Given the description of an element on the screen output the (x, y) to click on. 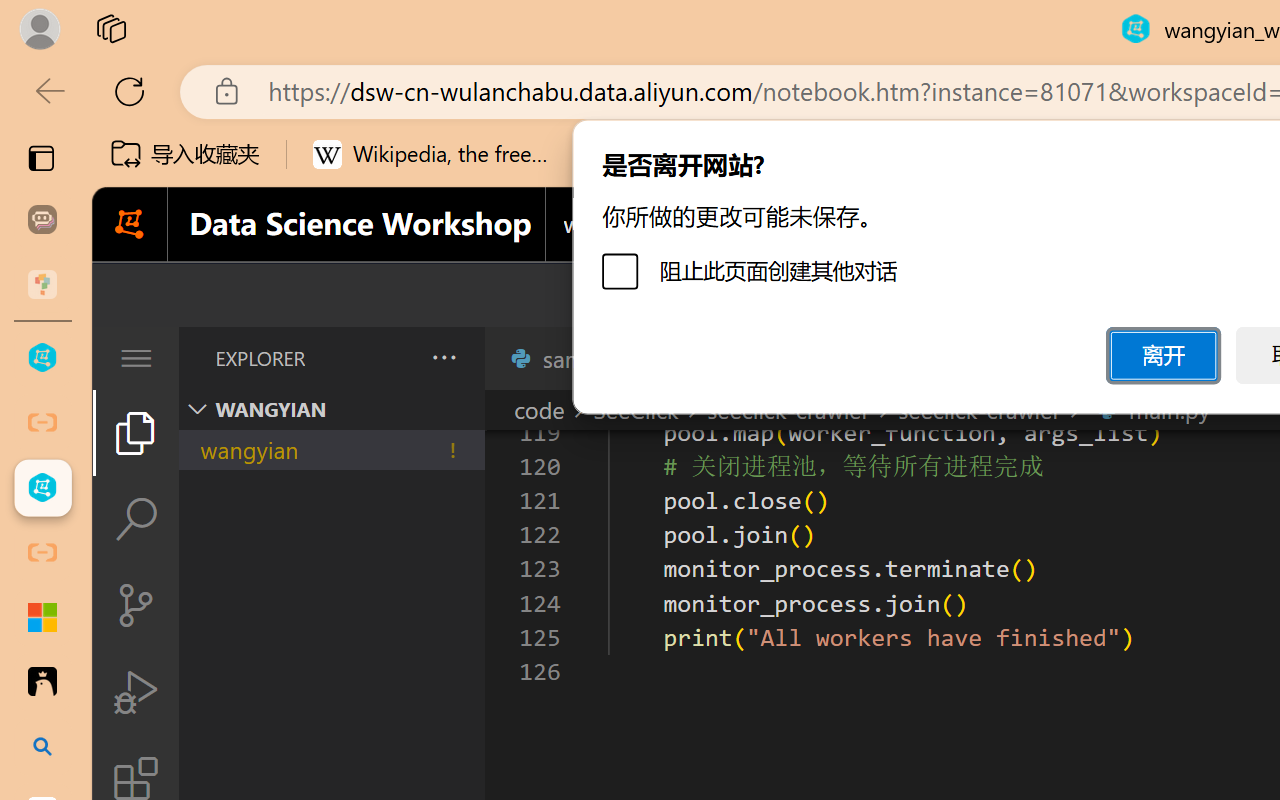
Views and More Actions... (442, 357)
Application Menu (135, 358)
Run and Debug (Ctrl+Shift+D) (135, 692)
wangyian_dsw - DSW (42, 357)
Explorer (Ctrl+Shift+E) (135, 432)
Class: menubar compact overflow-menu-only (135, 358)
Adjust indents and spacing - Microsoft Support (42, 617)
Search (Ctrl+Shift+F) (135, 519)
